Given the description of an element on the screen output the (x, y) to click on. 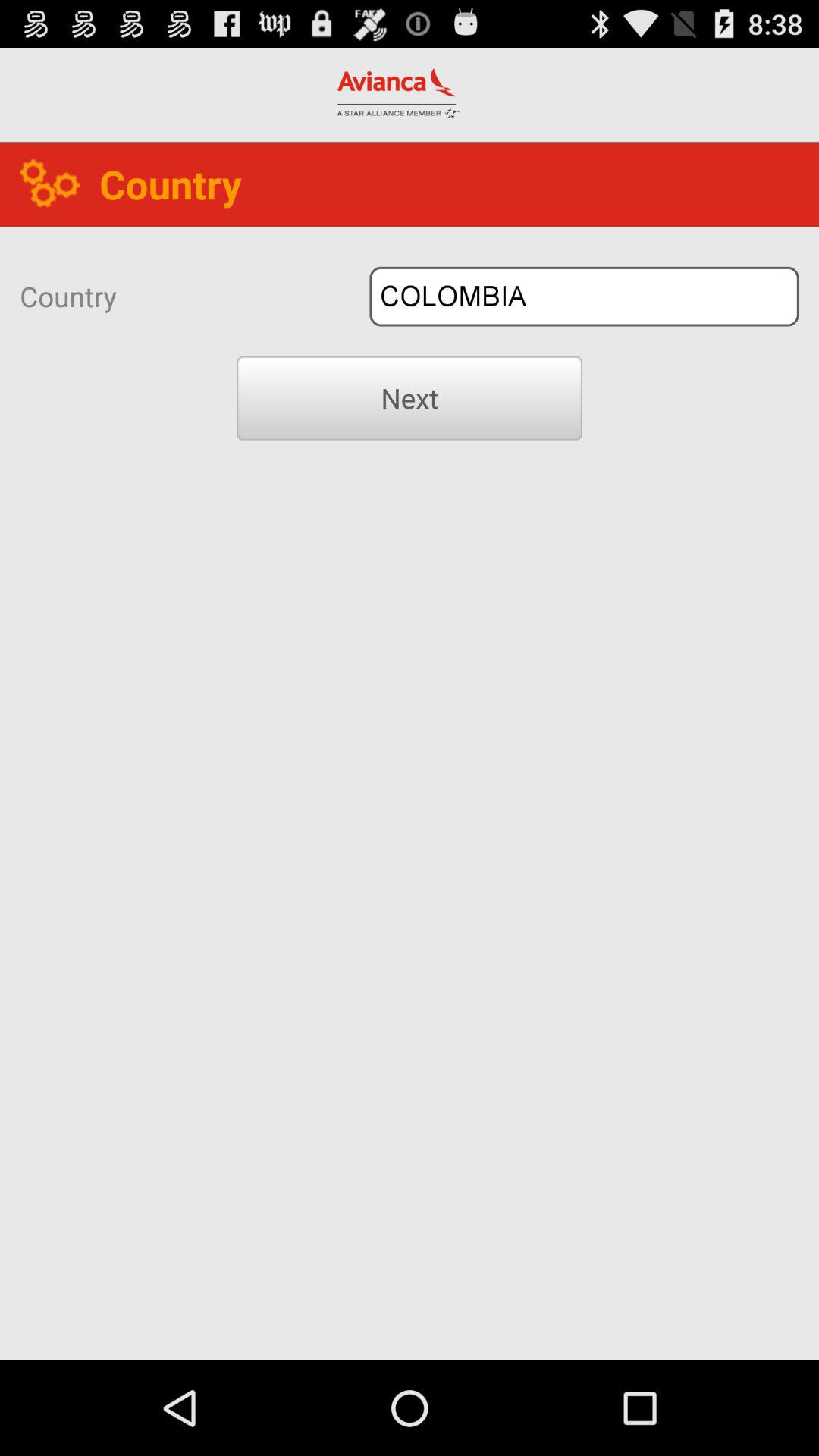
swipe to colombia icon (584, 296)
